Given the description of an element on the screen output the (x, y) to click on. 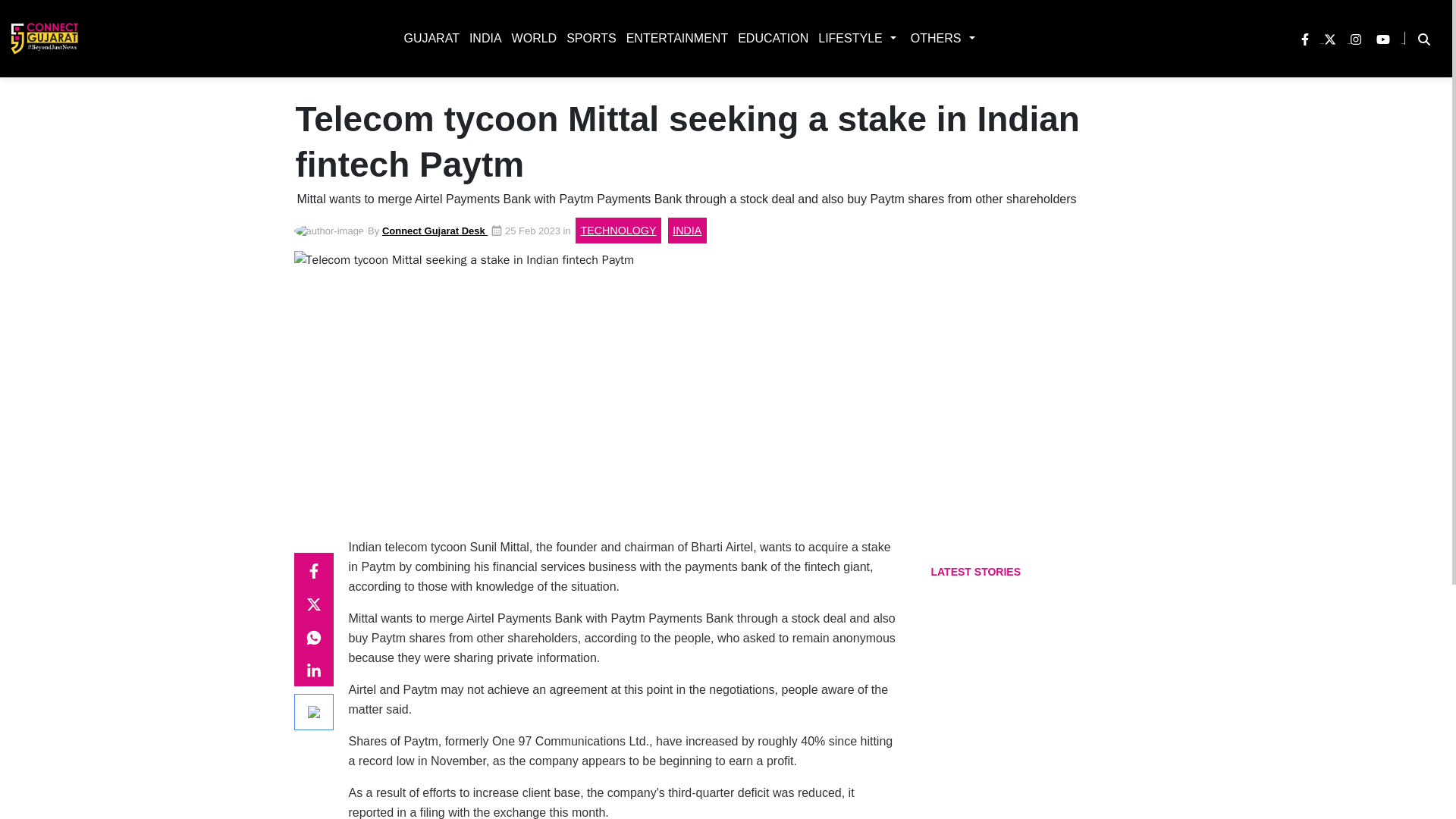
INDIA (482, 38)
SPORTS (587, 38)
ENTERTAINMENT (674, 38)
WORLD (531, 38)
EDUCATION (770, 38)
GUJARAT (427, 38)
LIFESTYLE (847, 38)
OTHERS (932, 38)
